Given the description of an element on the screen output the (x, y) to click on. 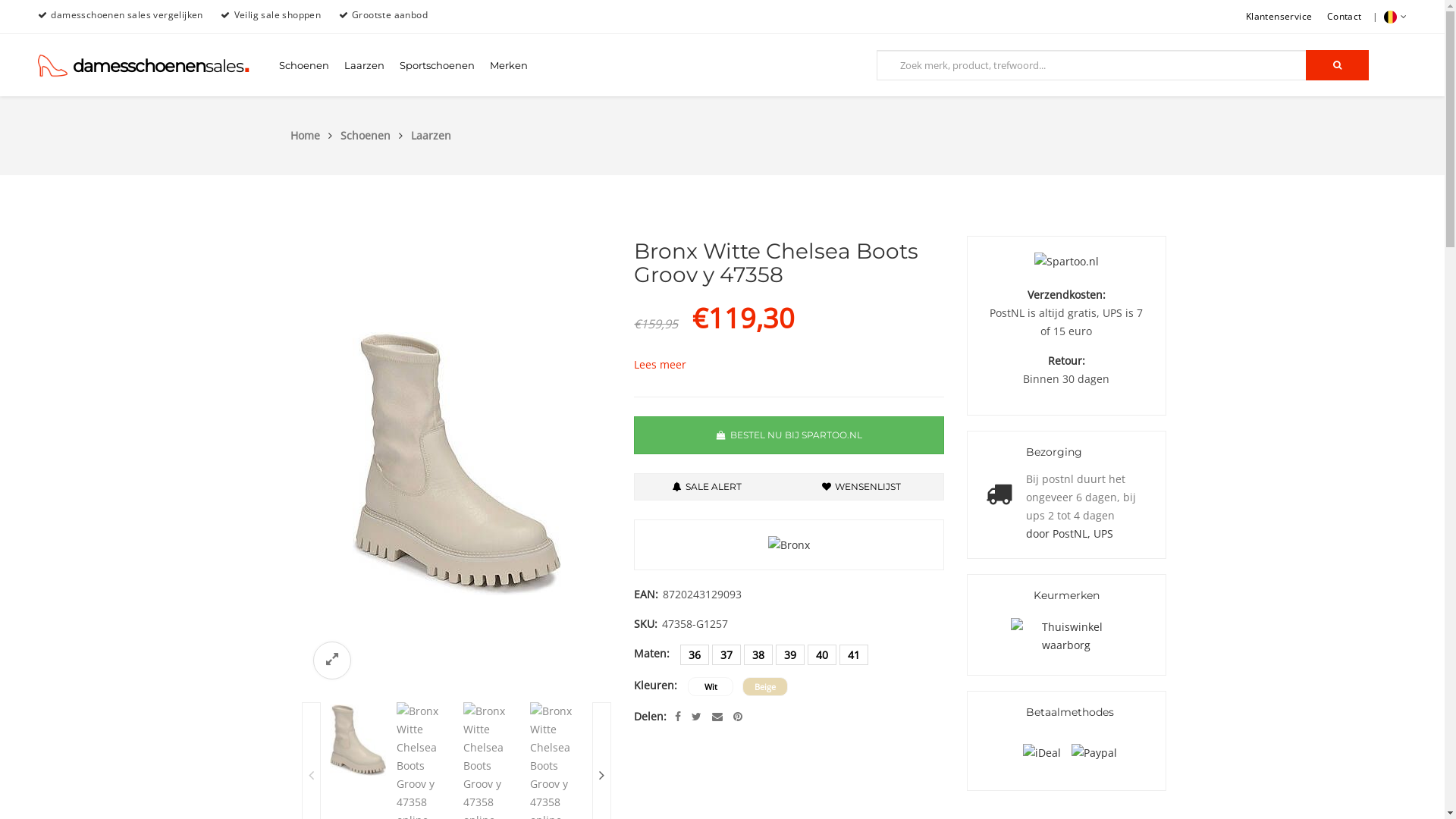
Home Element type: text (312, 135)
Lees meer Element type: text (659, 364)
BESTEL NU BIJ SPARTOO.NL Element type: text (788, 435)
WENSENLIJST Element type: text (860, 486)
Laarzen Element type: text (431, 135)
Schoenen Element type: text (303, 65)
damesschoenensales. Element type: text (143, 72)
Sportschoenen Element type: text (437, 65)
38 Element type: text (757, 654)
37 Element type: text (726, 654)
39 Element type: text (789, 654)
40 Element type: text (821, 654)
Schoenen Element type: text (373, 135)
Merken Element type: text (508, 65)
Contact Element type: text (1344, 16)
36 Element type: text (694, 654)
Laarzen Element type: text (364, 65)
SALE ALERT Element type: text (706, 486)
Klantenservice Element type: text (1278, 16)
41 Element type: text (853, 654)
